Given the description of an element on the screen output the (x, y) to click on. 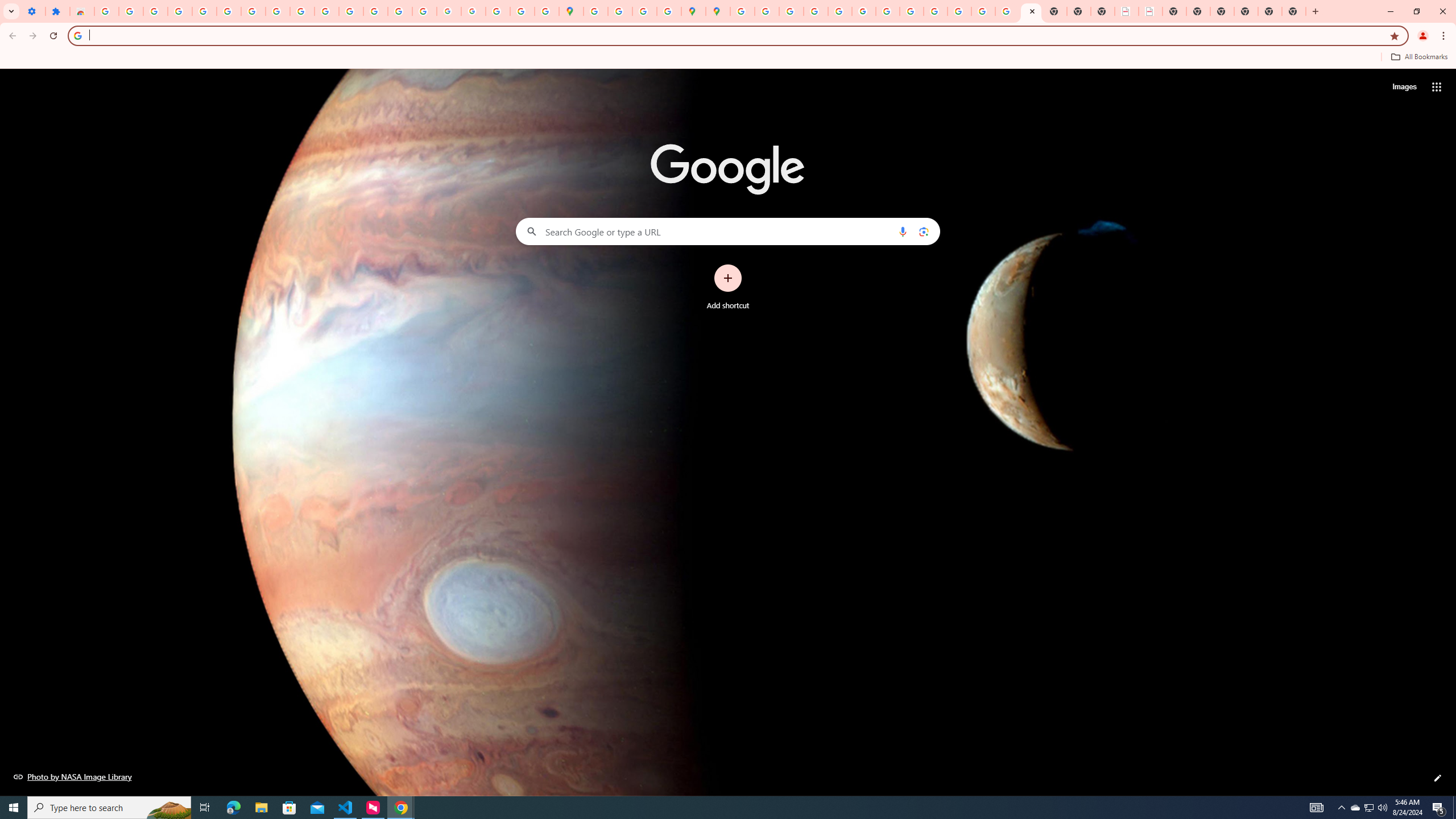
Photo by NASA Image Library (72, 776)
Settings - On startup (33, 11)
LAAD Defence & Security 2025 | BAE Systems (1126, 11)
Safety in Our Products - Google Safety Center (668, 11)
New Tab (1245, 11)
